Given the description of an element on the screen output the (x, y) to click on. 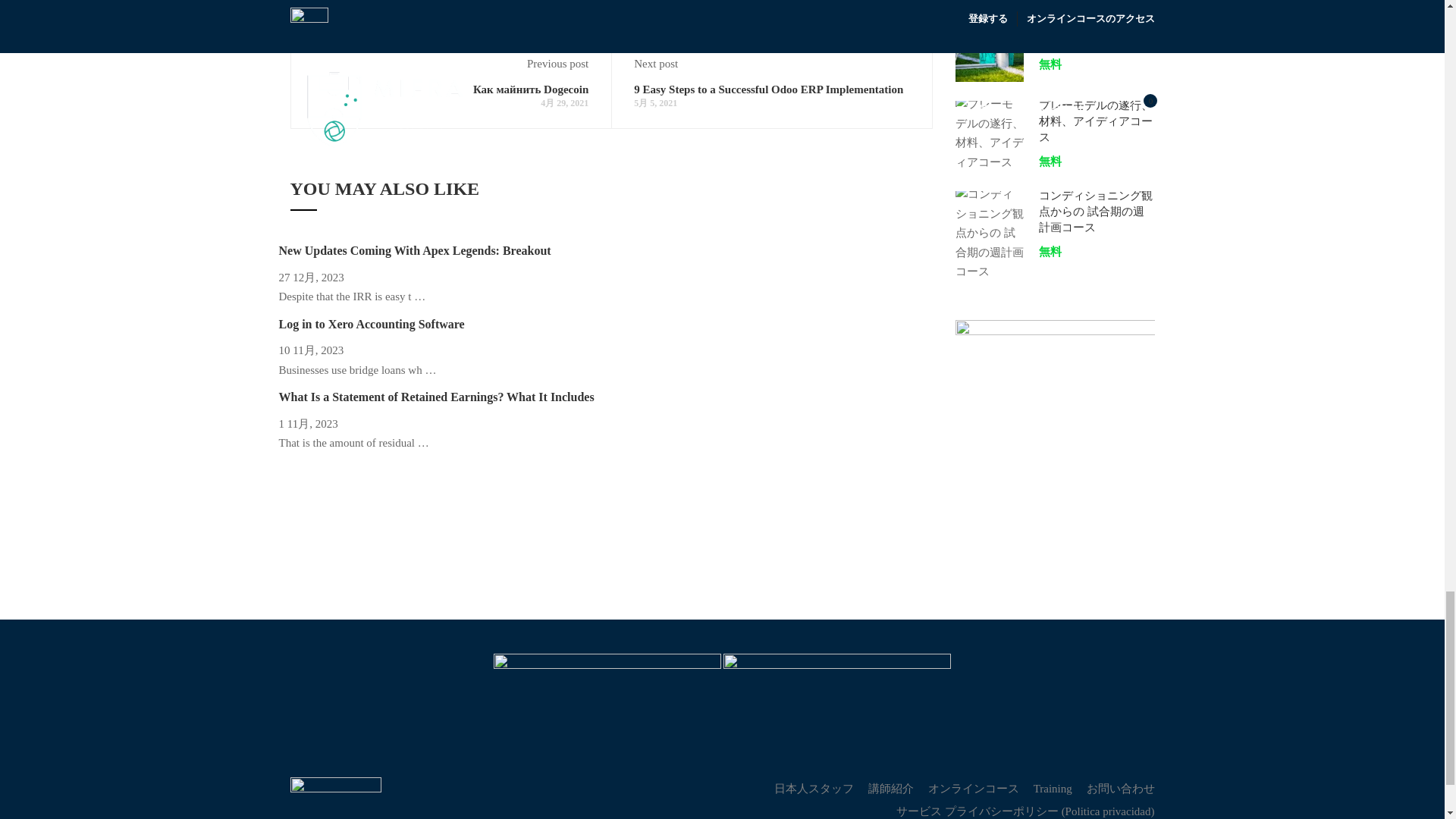
What Is a Statement of Retained Earnings? What It Includes (436, 396)
9 Easy Steps to a Successful Odoo ERP Implementation (767, 89)
New Updates Coming With Apex Legends: Breakout (415, 250)
Log in to Xero Accounting Software (371, 323)
